Given the description of an element on the screen output the (x, y) to click on. 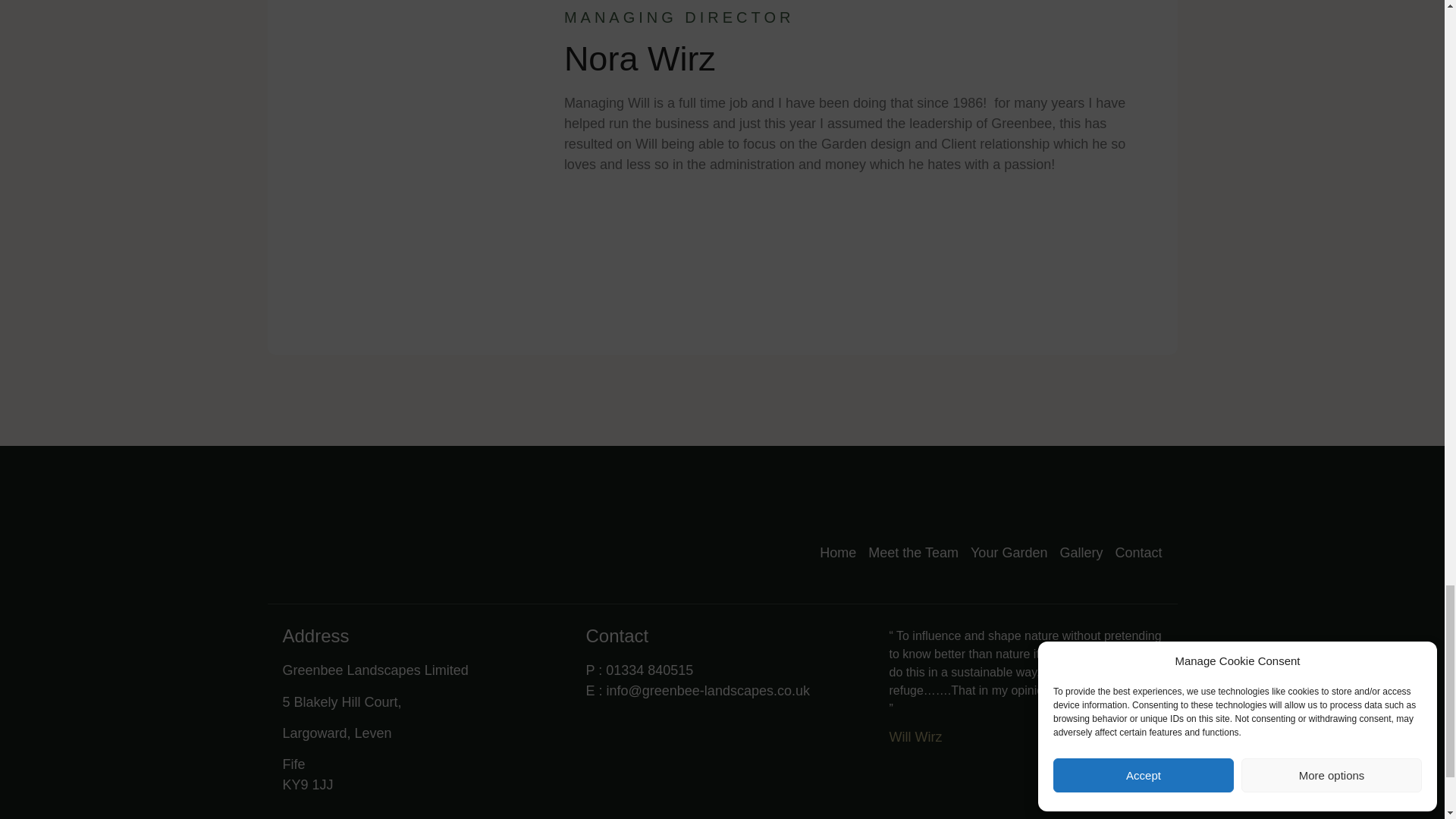
Contact (1138, 552)
Your Garden (1008, 552)
Gallery (1080, 552)
Meet the Team (912, 552)
Home (837, 552)
